Given the description of an element on the screen output the (x, y) to click on. 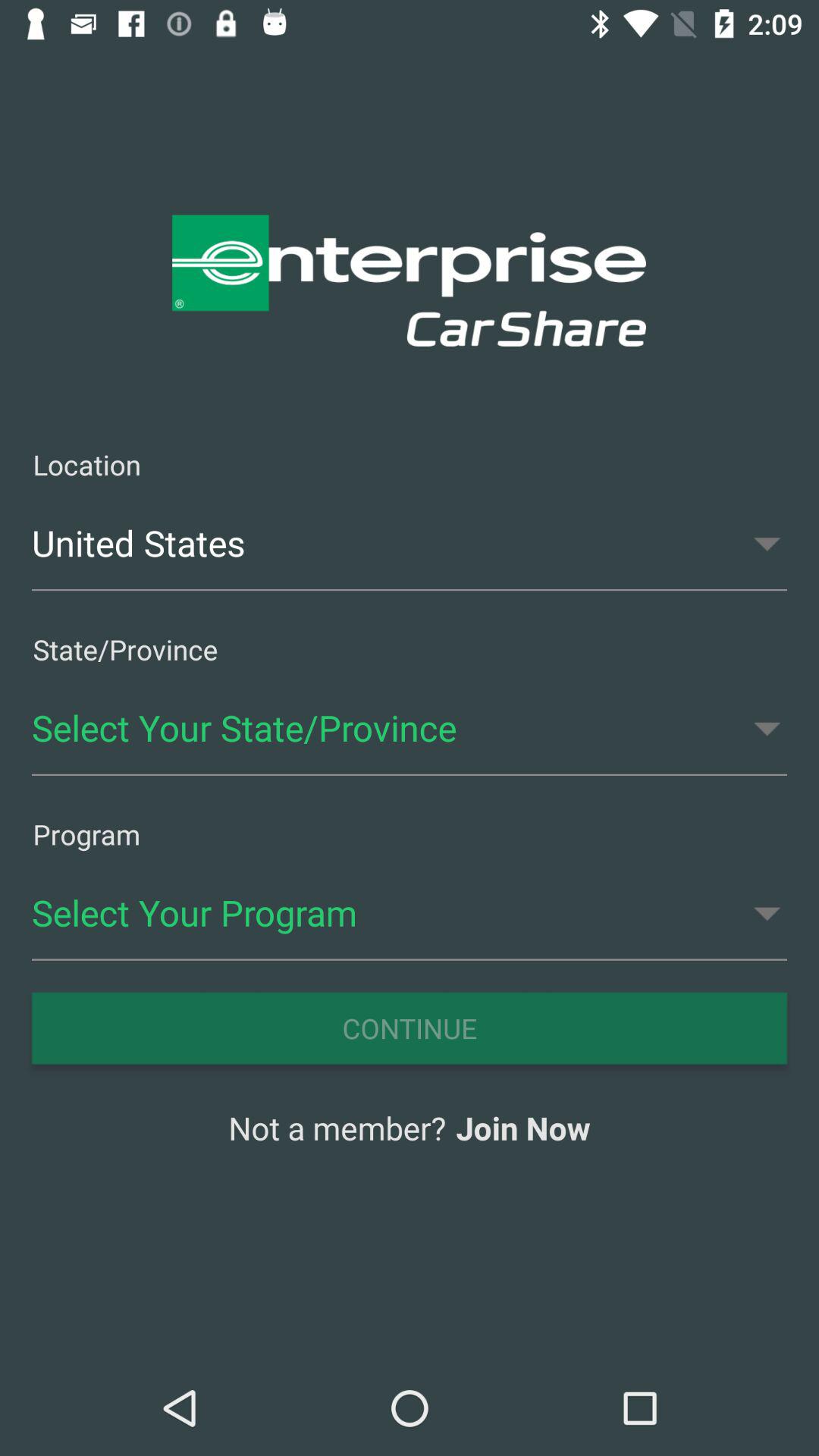
click icon below location item (409, 542)
